Given the description of an element on the screen output the (x, y) to click on. 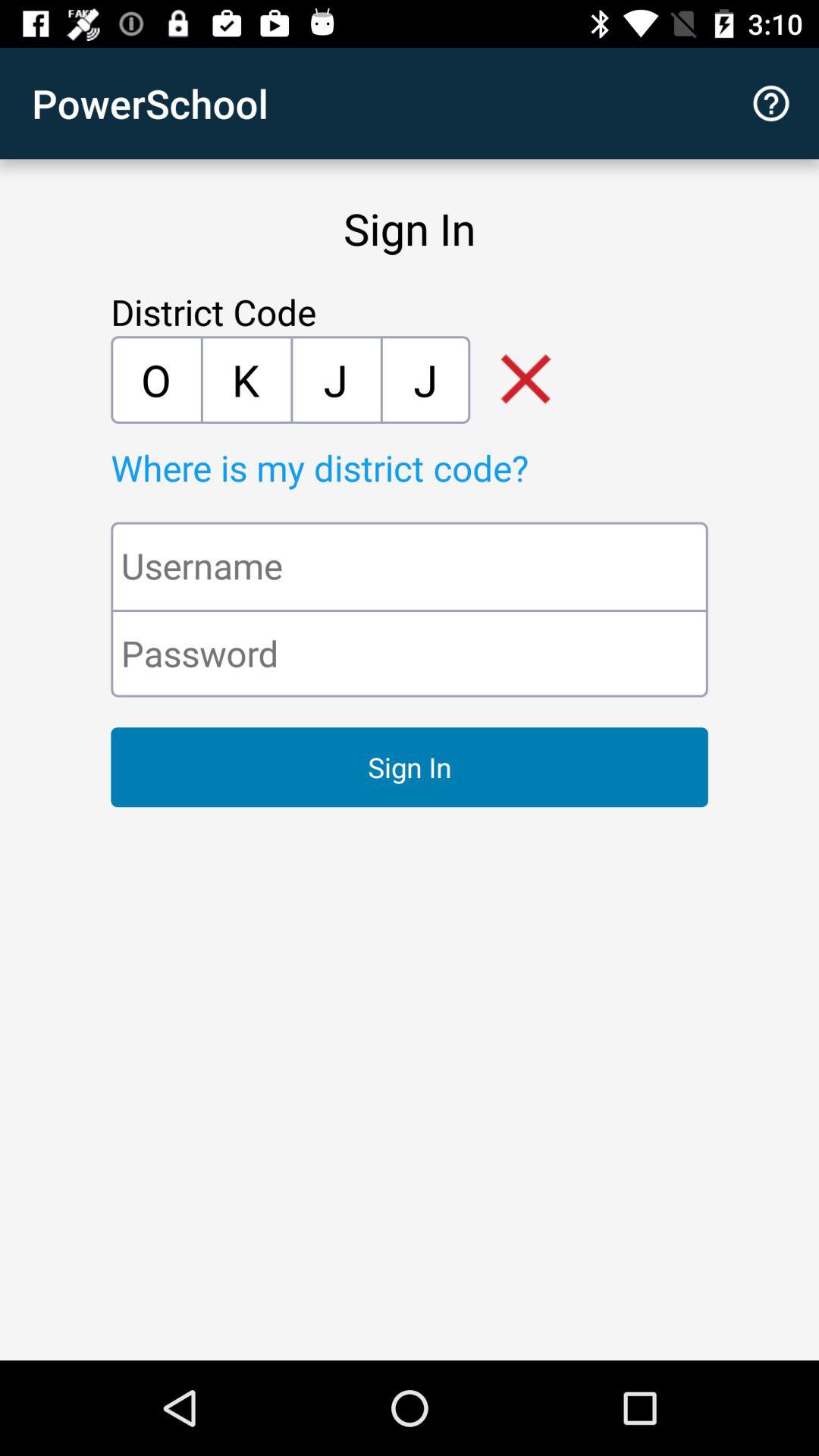
username log in (409, 565)
